Given the description of an element on the screen output the (x, y) to click on. 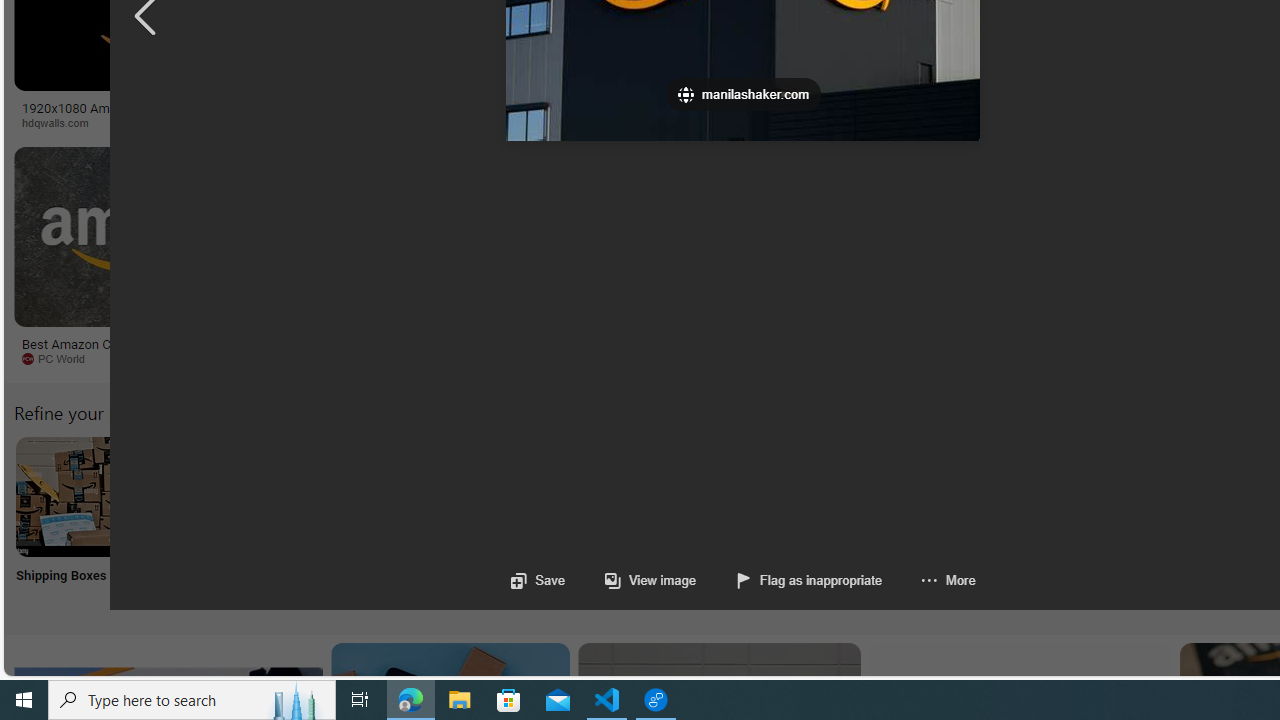
Best Amazon Cyber Monday deals 2019 | PCWorld (146, 350)
Amazon Wish List Wish List (999, 521)
Amazon Clip Art Clip Art (339, 521)
thewrap.com (826, 358)
Jobs Near Me (604, 521)
Amazon Shipping Boxes Shipping Boxes (75, 521)
PC World (59, 358)
Amazon Jobs Near Me Jobs Near Me (604, 521)
Amazon Package Delivery (735, 496)
Marketplace (700, 121)
Amazon Wish List (999, 496)
Log into My Account (472, 521)
